Given the description of an element on the screen output the (x, y) to click on. 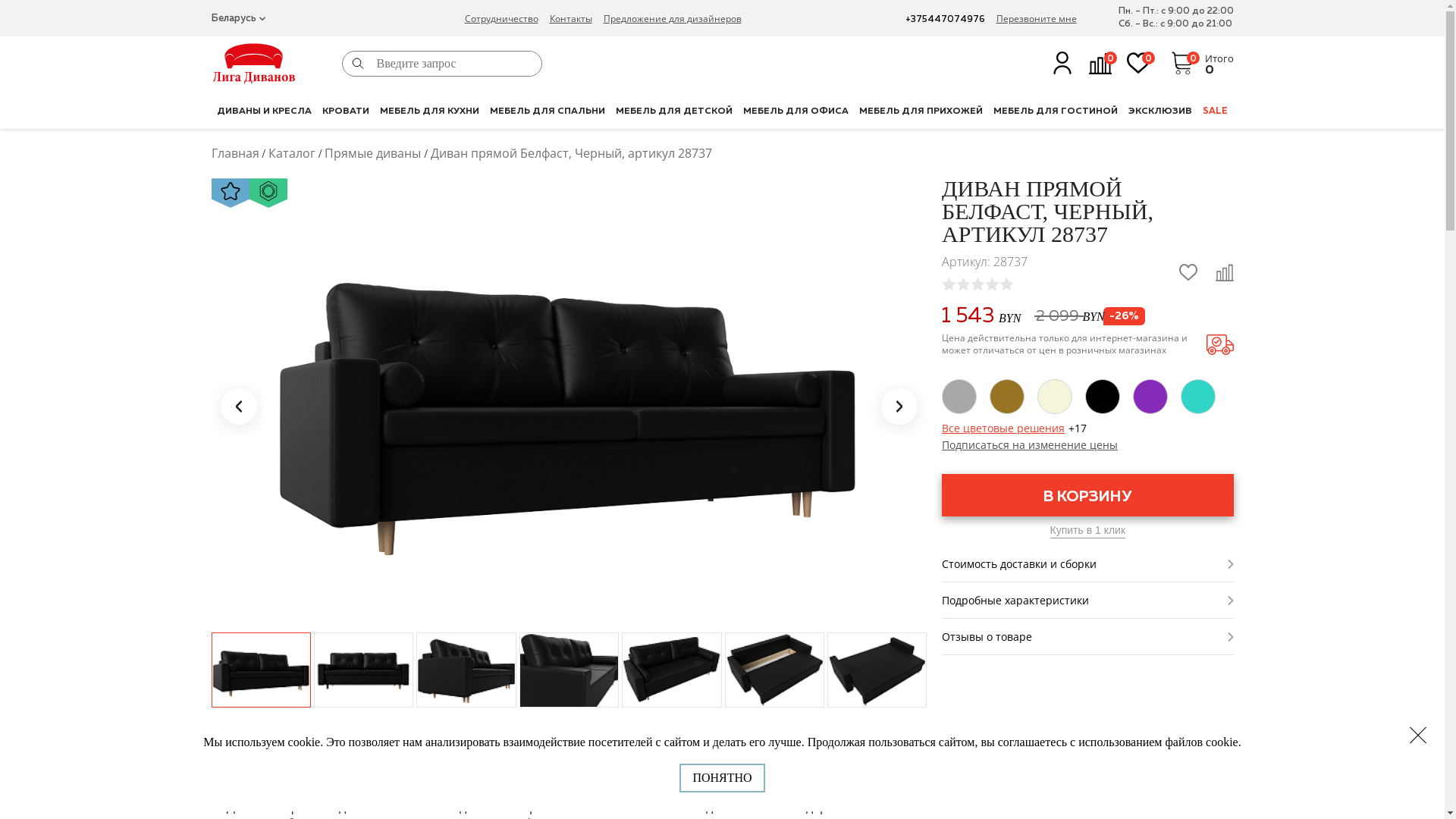
+375447074976 Element type: text (945, 19)
SALE Element type: text (1214, 111)
